Given the description of an element on the screen output the (x, y) to click on. 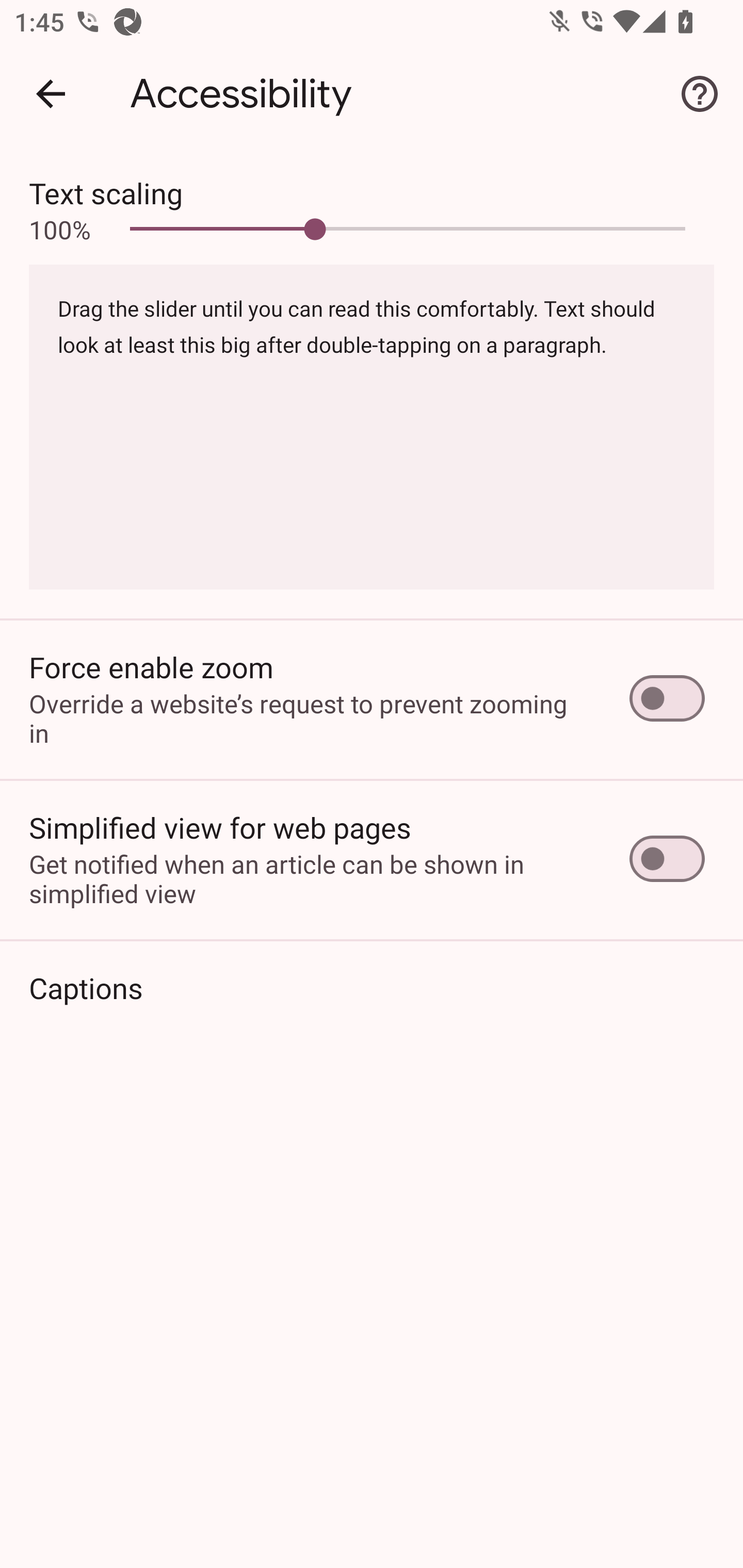
Navigate up (50, 93)
Help & feedback (699, 93)
Captions (371, 987)
